Given the description of an element on the screen output the (x, y) to click on. 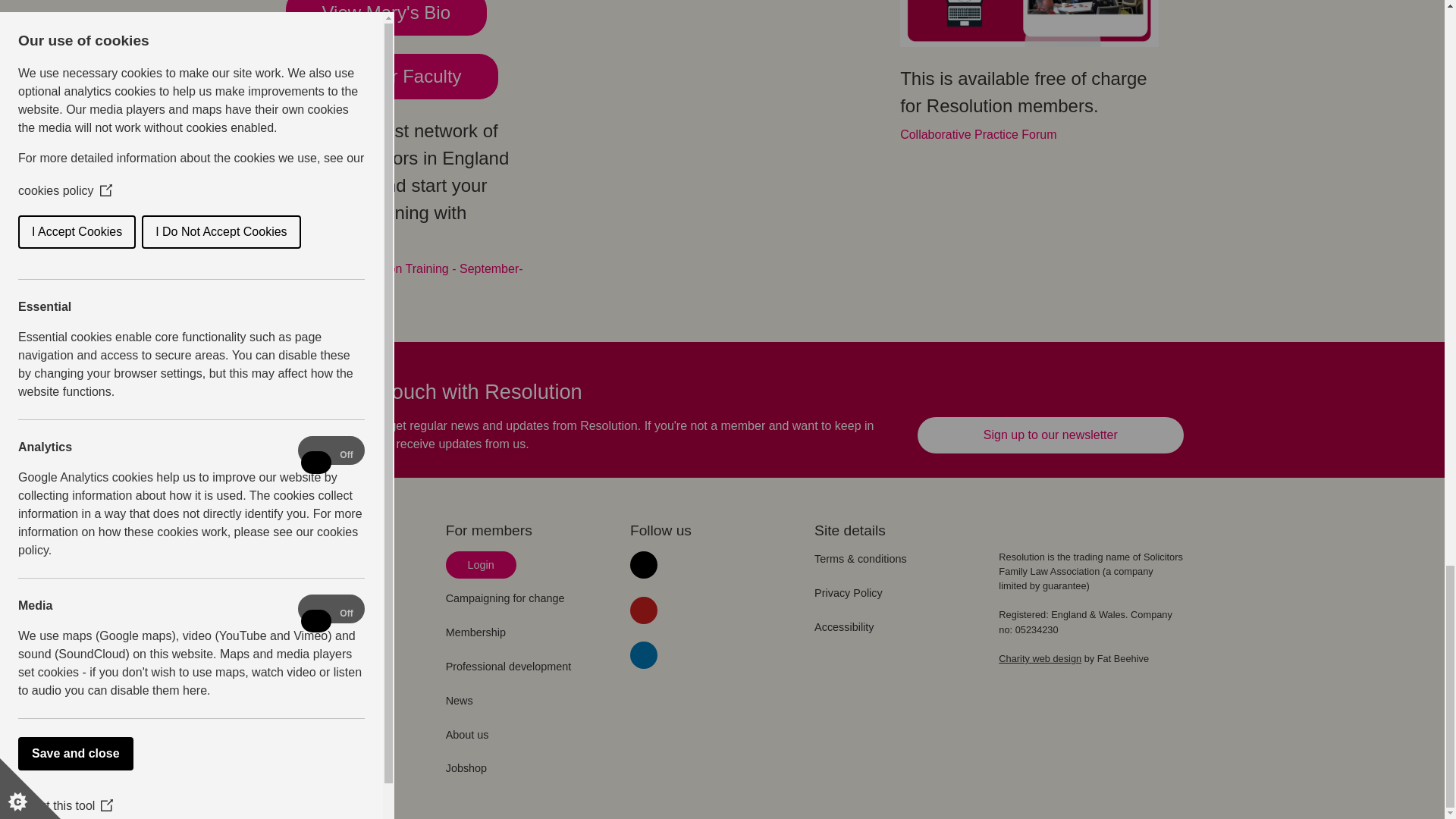
Youtube (644, 610)
Twitter (644, 564)
Linkedin (644, 655)
